Given the description of an element on the screen output the (x, y) to click on. 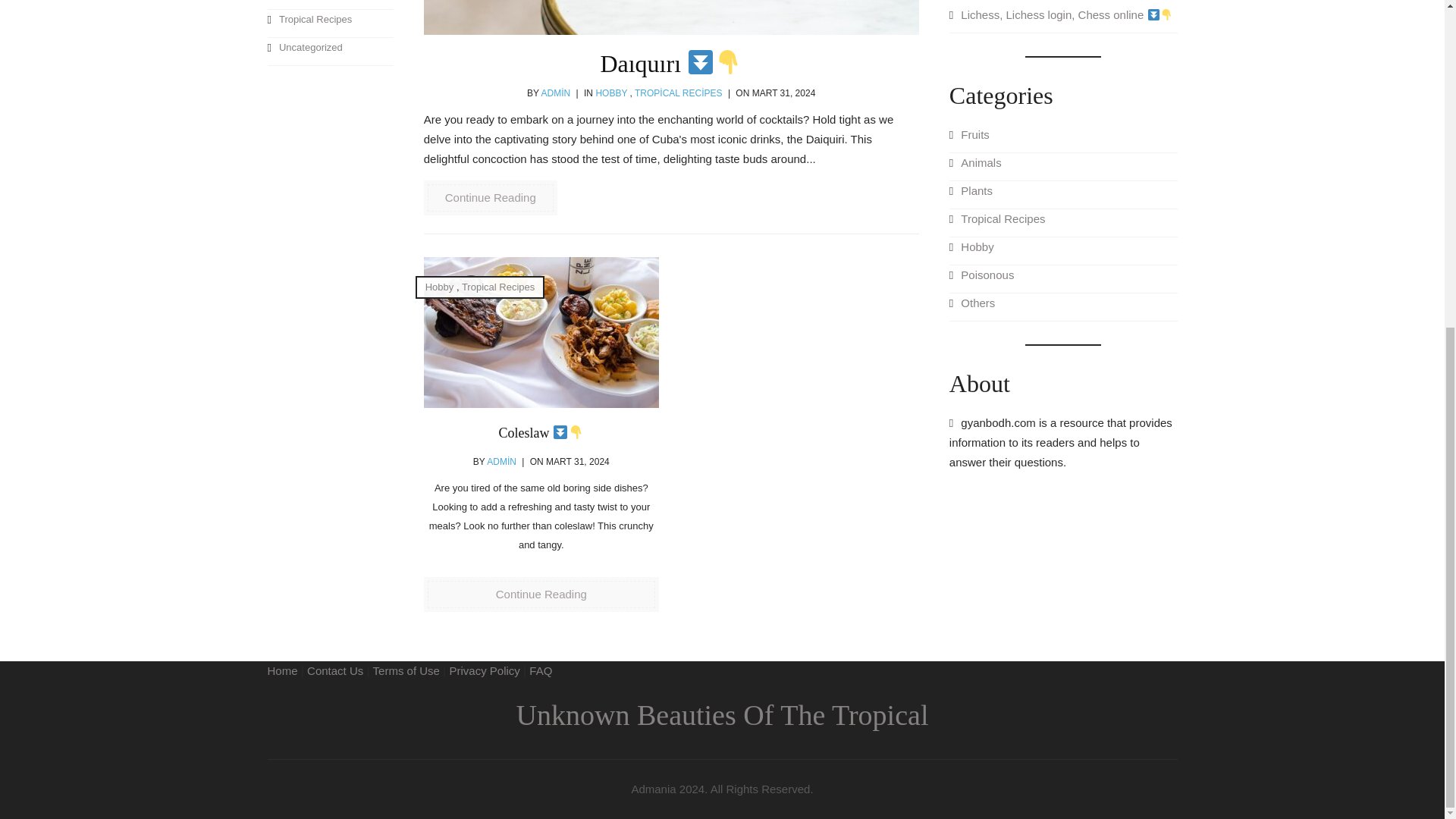
Coleslaw (542, 432)
Hobby (1063, 251)
ADMIN (501, 461)
Animals (1063, 166)
ADMIN (555, 92)
TROPICAL RECIPES (678, 92)
Tropical Recipes (329, 23)
Fruits (1063, 139)
Home (281, 670)
Lichess, Lichess login, Chess online (1063, 18)
Poisonous (329, 4)
Uncategorized (329, 51)
Continue Reading (490, 197)
Plants (1063, 194)
HOBBY (611, 92)
